Given the description of an element on the screen output the (x, y) to click on. 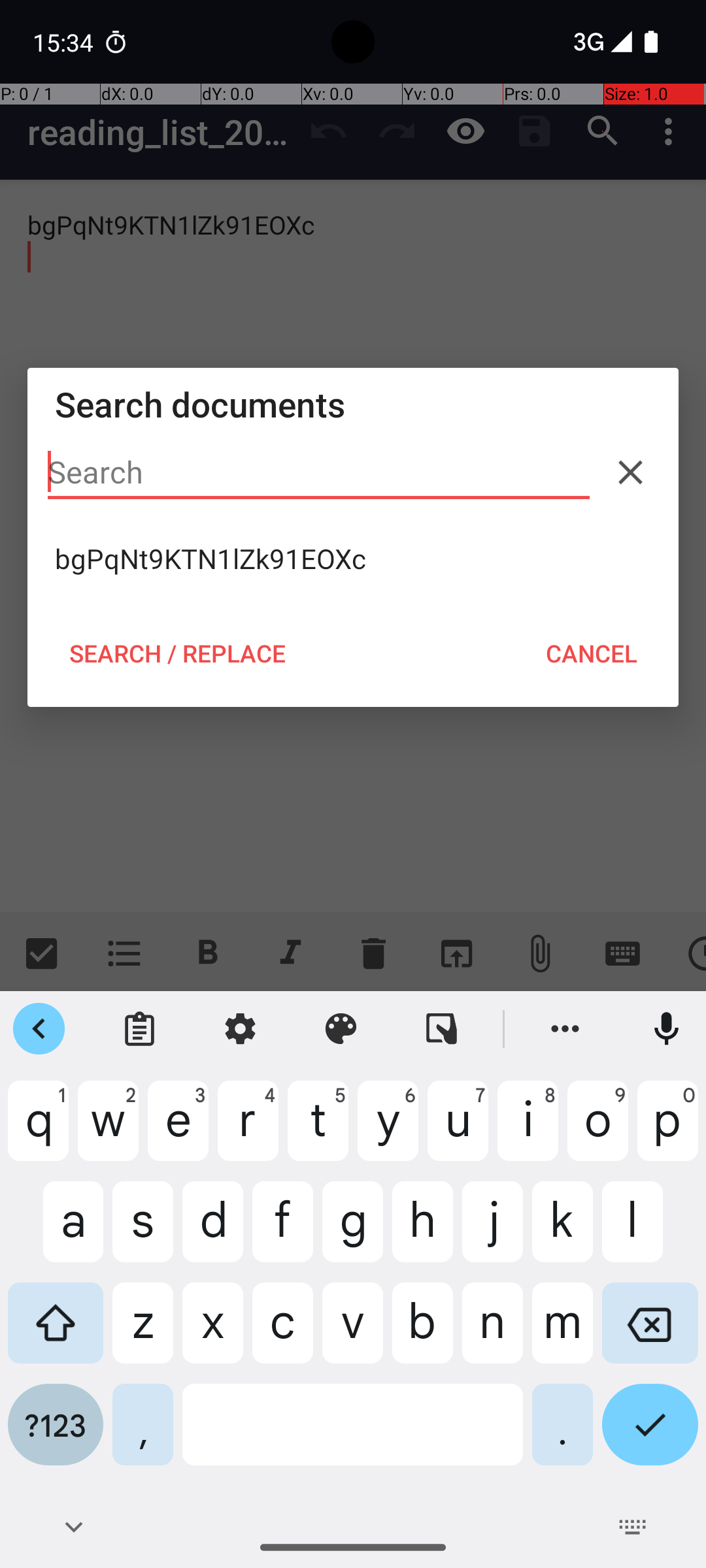
bgPqNt9KTN1lZk91EOXc Element type: android.widget.TextView (352, 558)
